Given the description of an element on the screen output the (x, y) to click on. 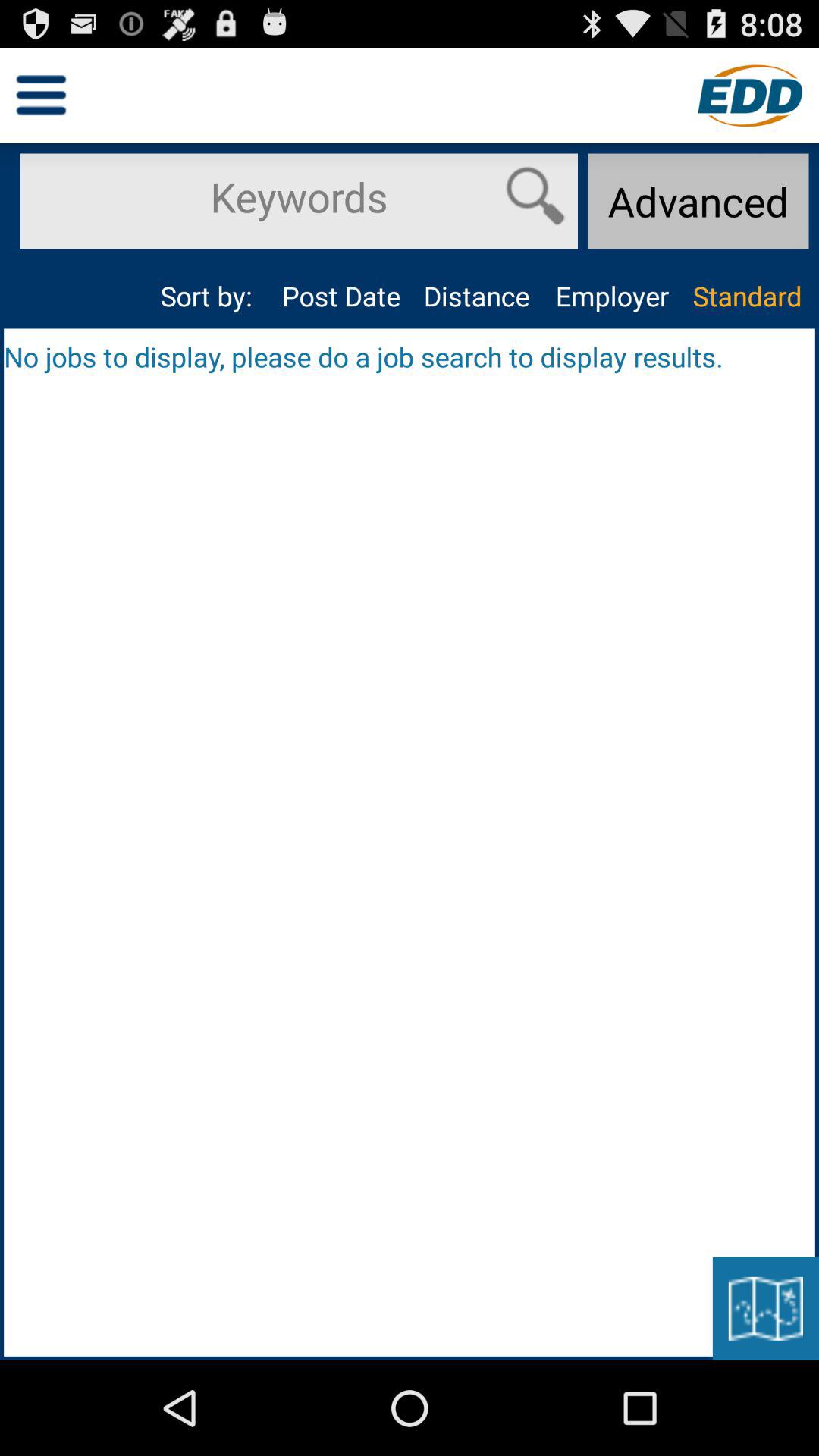
turn on the icon below the no jobs to (765, 1308)
